Given the description of an element on the screen output the (x, y) to click on. 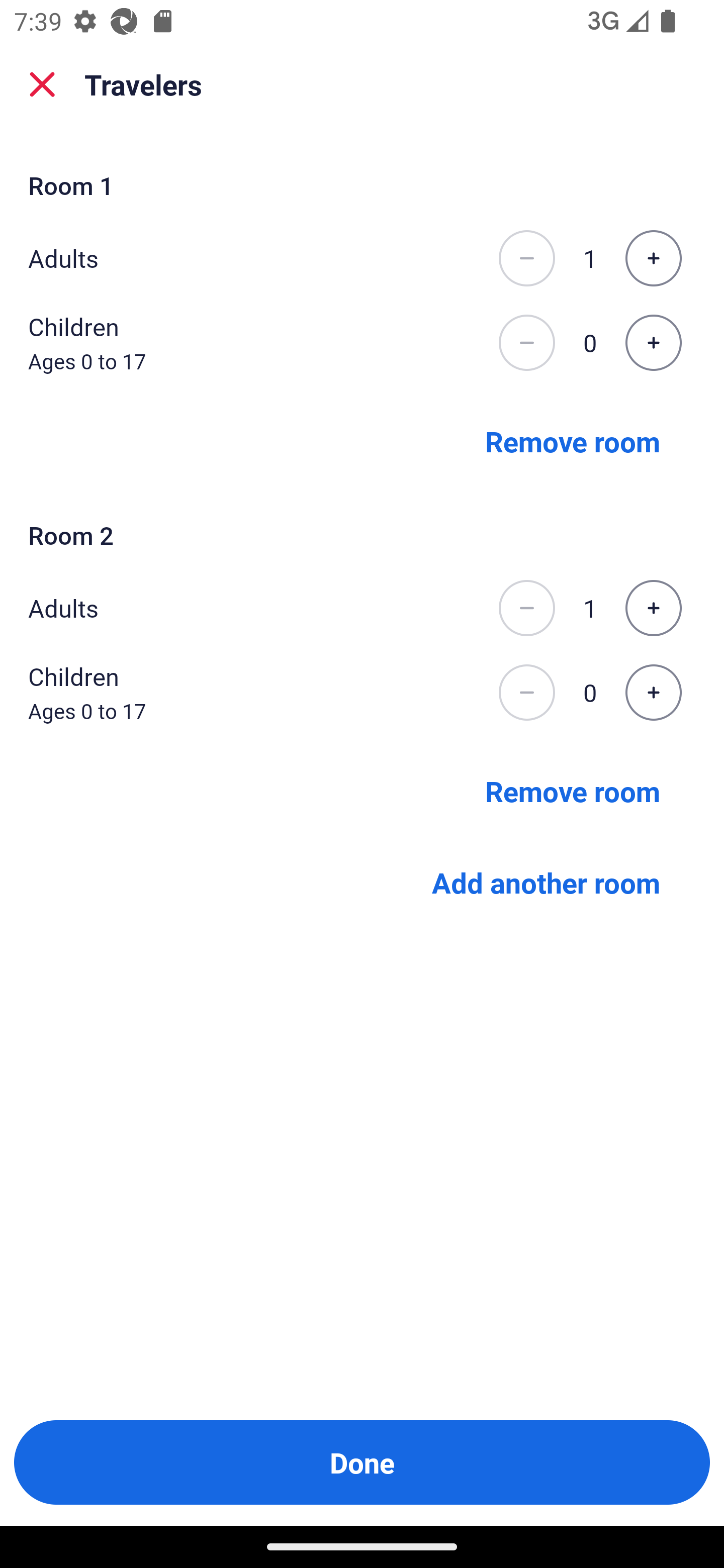
close (42, 84)
Decrease the number of adults (526, 258)
Increase the number of adults (653, 258)
Decrease the number of children (526, 343)
Increase the number of children (653, 343)
Remove room (572, 440)
Decrease the number of adults (526, 608)
Increase the number of adults (653, 608)
Decrease the number of children (526, 692)
Increase the number of children (653, 692)
Remove room (572, 790)
Add another room (545, 882)
Done (361, 1462)
